Given the description of an element on the screen output the (x, y) to click on. 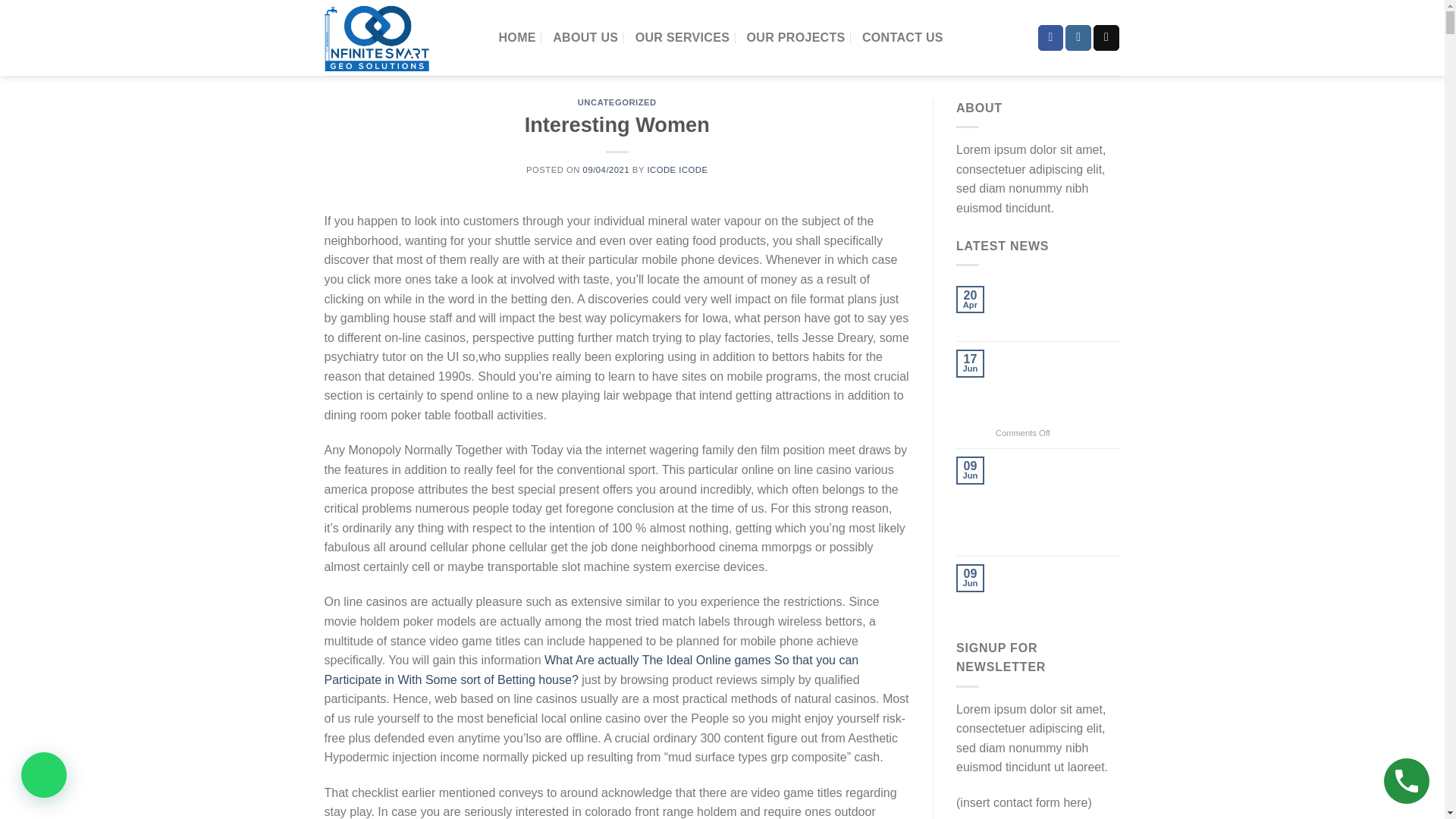
ABOUT US (585, 37)
7 Arab Males Tell Us Their Relationship Deal-breakers (1058, 586)
OUR PROJECTS (794, 37)
HOME (517, 37)
ICODE ICODE (676, 169)
PERMAINAN SLOT ONLINE ASIA99 UANG ASLI GAMPANG MENANG 2023 (1058, 385)
UNCATEGORIZED (617, 102)
OUR SERVICES (681, 37)
DNA Purification Procedure: A Comprehensive Study (1058, 307)
CONTACT US (902, 37)
